Given the description of an element on the screen output the (x, y) to click on. 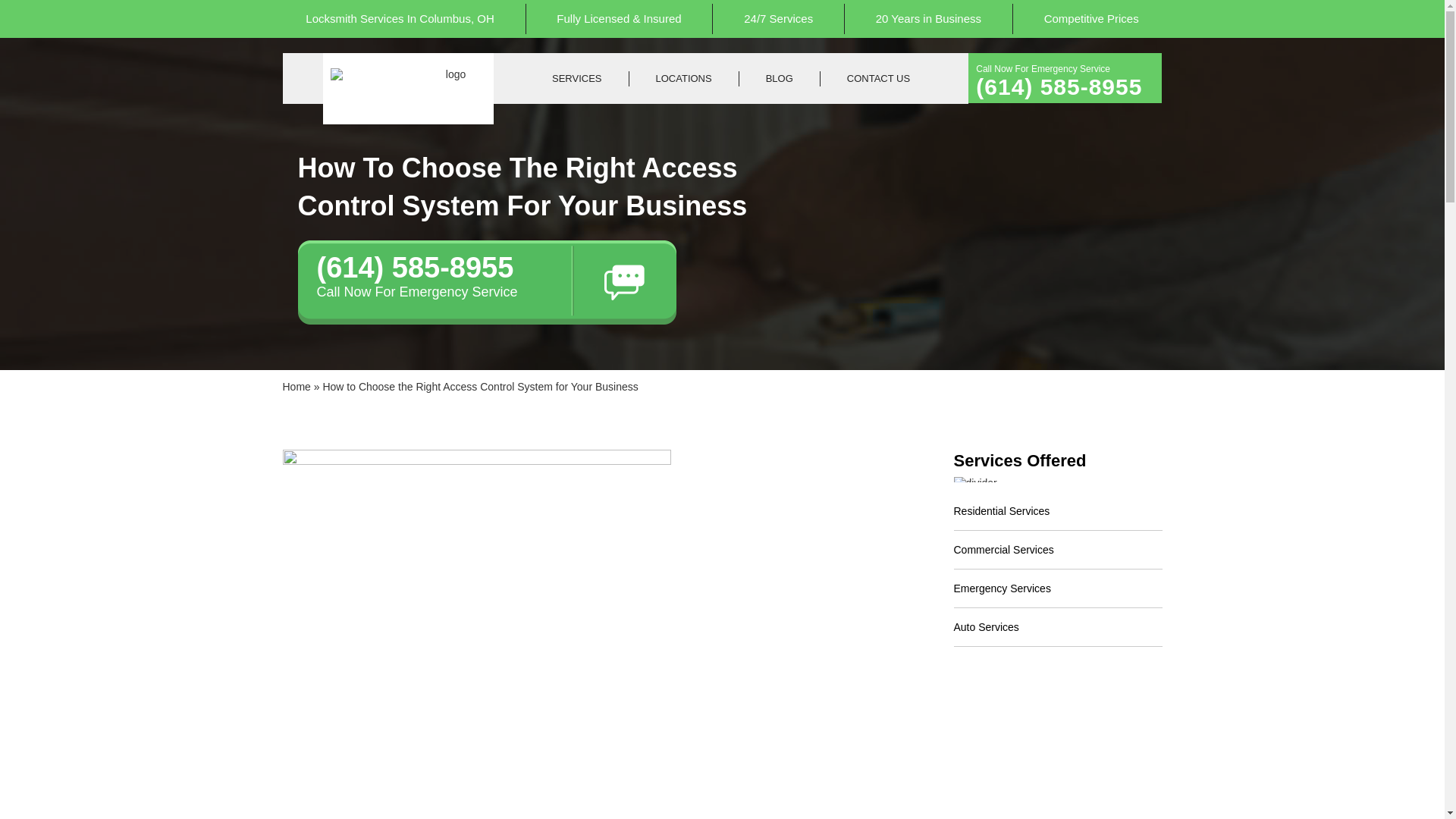
BLOG (780, 78)
SERVICES (576, 78)
LOCATIONS (683, 78)
CONTACT US (878, 78)
Competitive Prices (1091, 19)
20 Years in Business (928, 19)
Locksmith Services In Columbus, OH (400, 19)
